Given the description of an element on the screen output the (x, y) to click on. 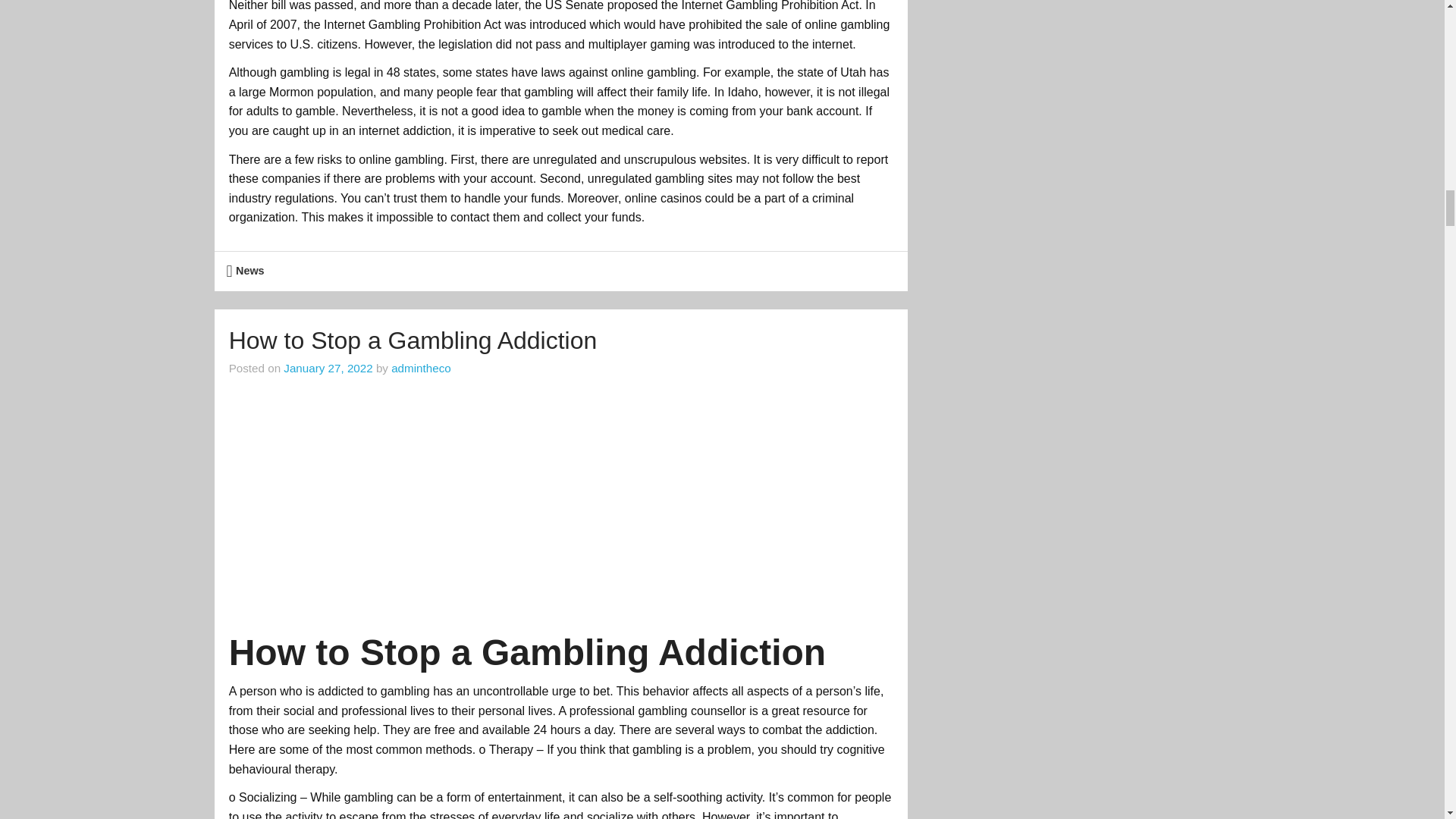
admintheco (421, 367)
View all posts by admintheco (421, 367)
11:32 am (327, 367)
How to Stop a Gambling Addiction (412, 339)
January 27, 2022 (327, 367)
News (249, 270)
